Given the description of an element on the screen output the (x, y) to click on. 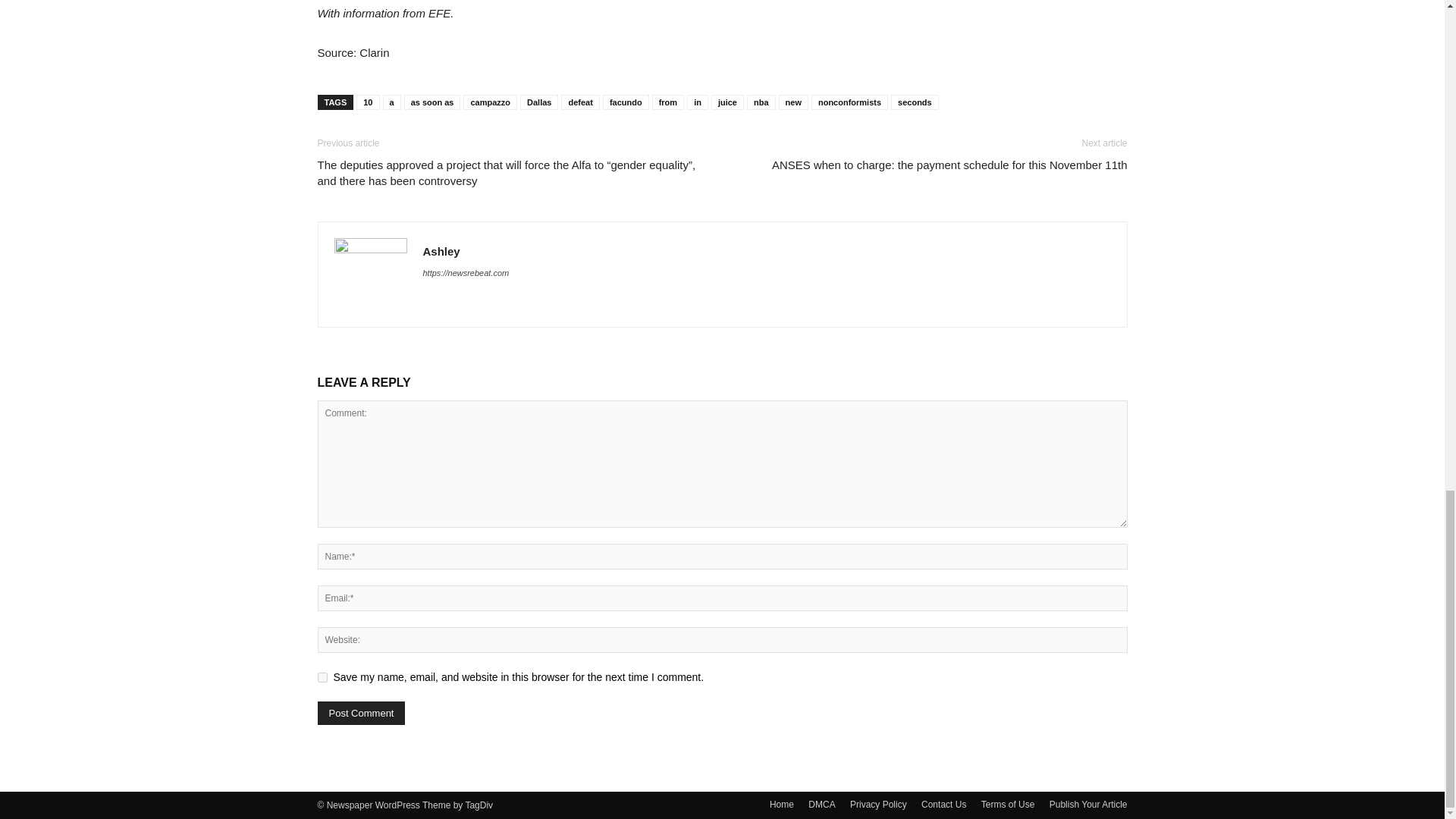
Dallas (538, 102)
campazzo (489, 102)
as soon as (432, 102)
Post Comment (360, 712)
yes (321, 677)
a (390, 102)
10 (367, 102)
